Given the description of an element on the screen output the (x, y) to click on. 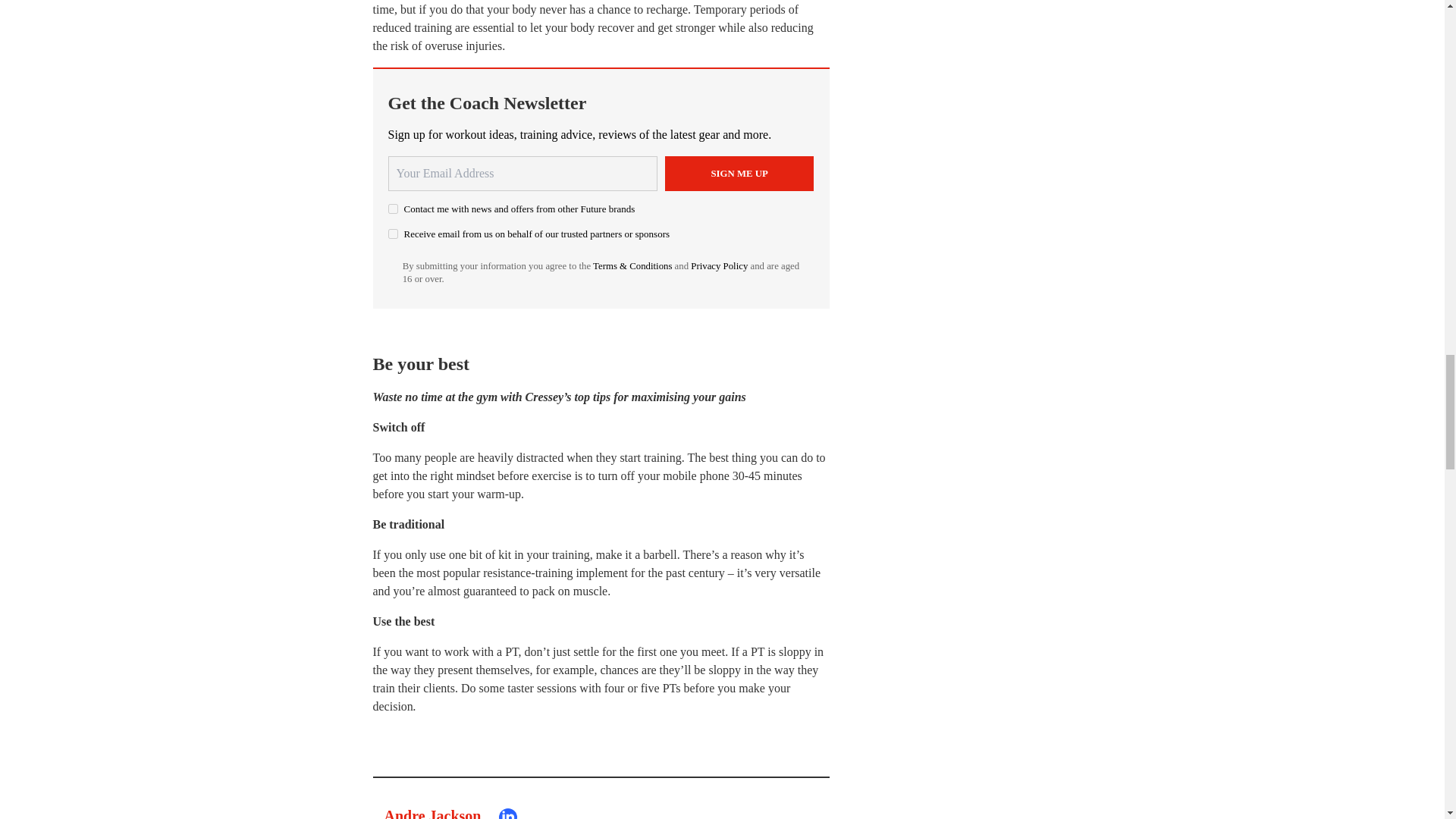
Privacy Policy (719, 266)
Andre Jackson (432, 813)
on (392, 208)
Sign me up (739, 173)
on (392, 234)
Sign me up (739, 173)
